Given the description of an element on the screen output the (x, y) to click on. 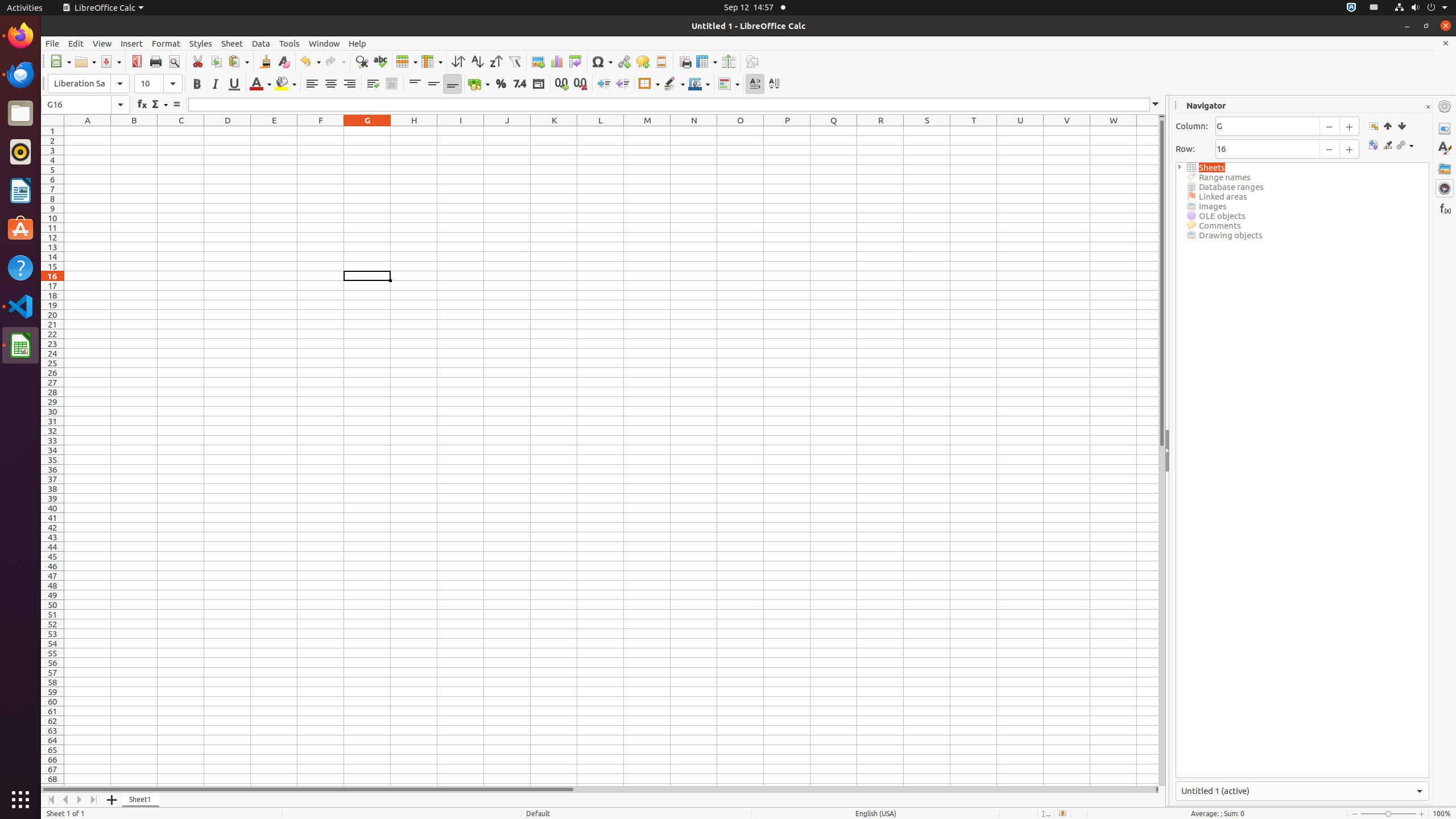
Toggle Element type: push-button (1373, 144)
Data Element type: menu (260, 43)
T1 Element type: table-cell (973, 130)
Sheet Sheet1 Element type: table (611, 456)
Merge and Center Cells Element type: push-button (391, 83)
